Given the description of an element on the screen output the (x, y) to click on. 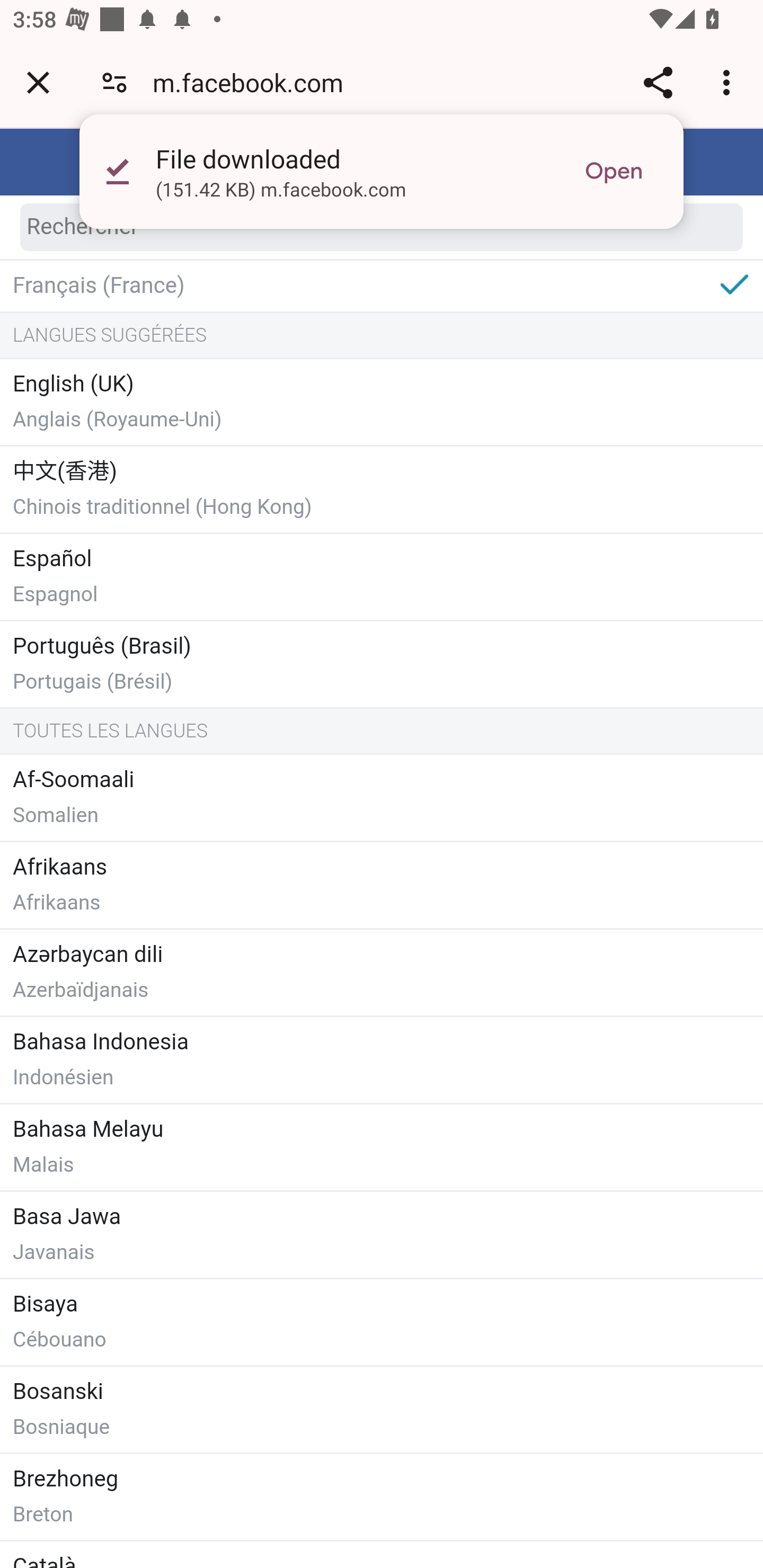
Close tab (38, 82)
Share (657, 82)
Customize and control Google Chrome (729, 82)
Connection is secure (114, 81)
m.facebook.com (254, 81)
Open (613, 171)
